Given the description of an element on the screen output the (x, y) to click on. 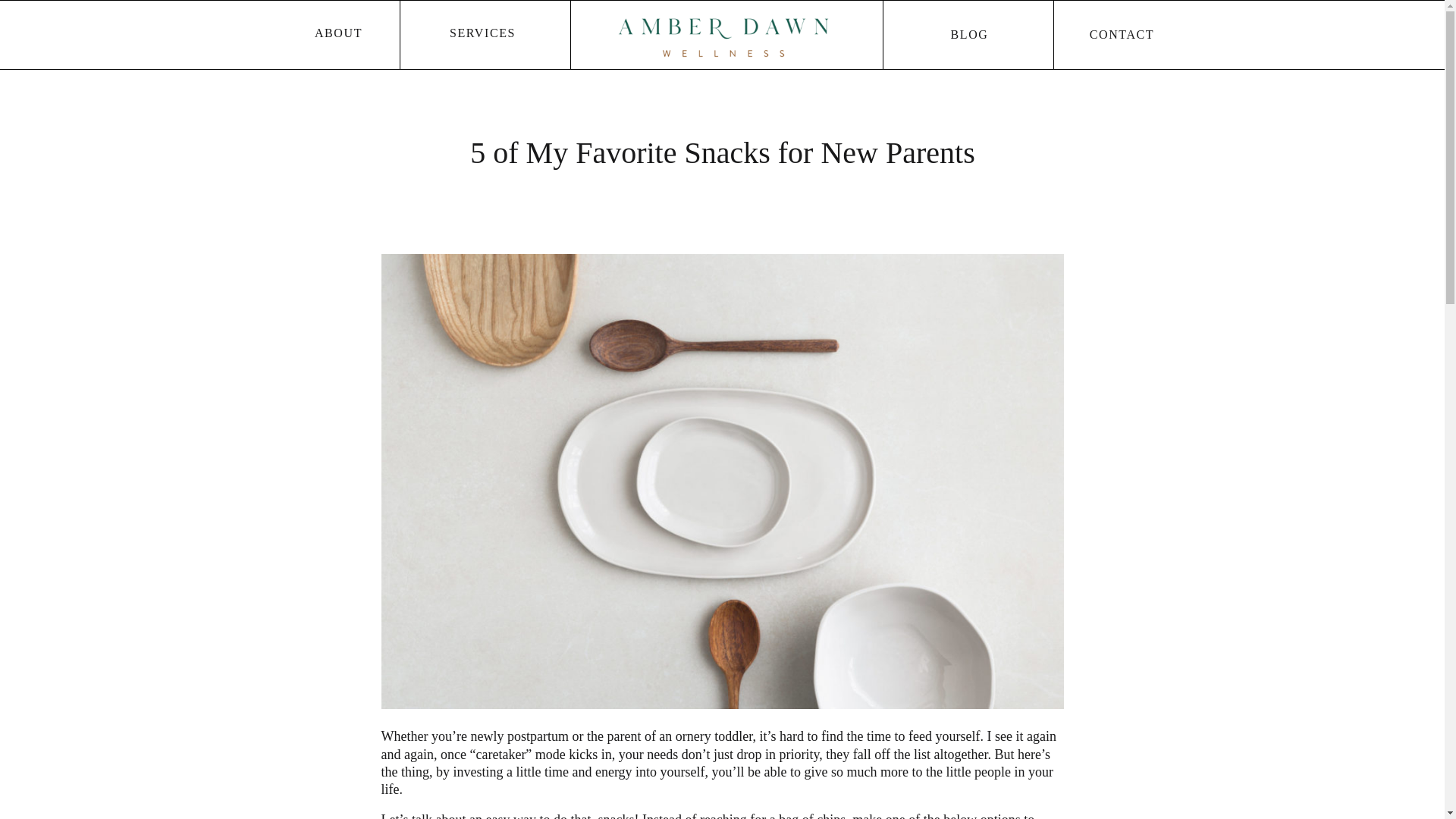
CONTACT (1122, 36)
BLOG (968, 36)
SERVICES (482, 34)
ABOUT (338, 34)
